Given the description of an element on the screen output the (x, y) to click on. 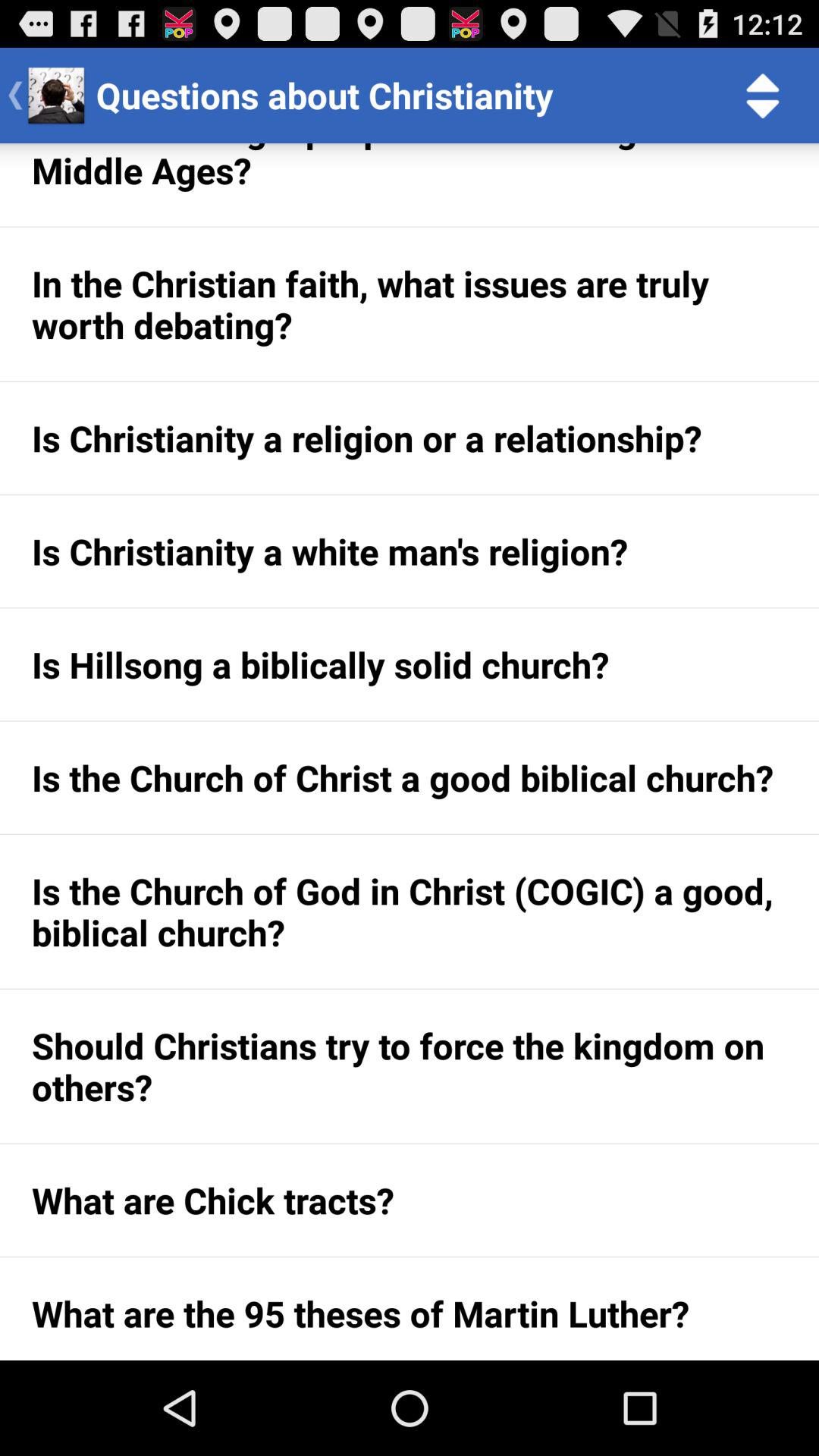
choose is hillsong a (409, 664)
